Given the description of an element on the screen output the (x, y) to click on. 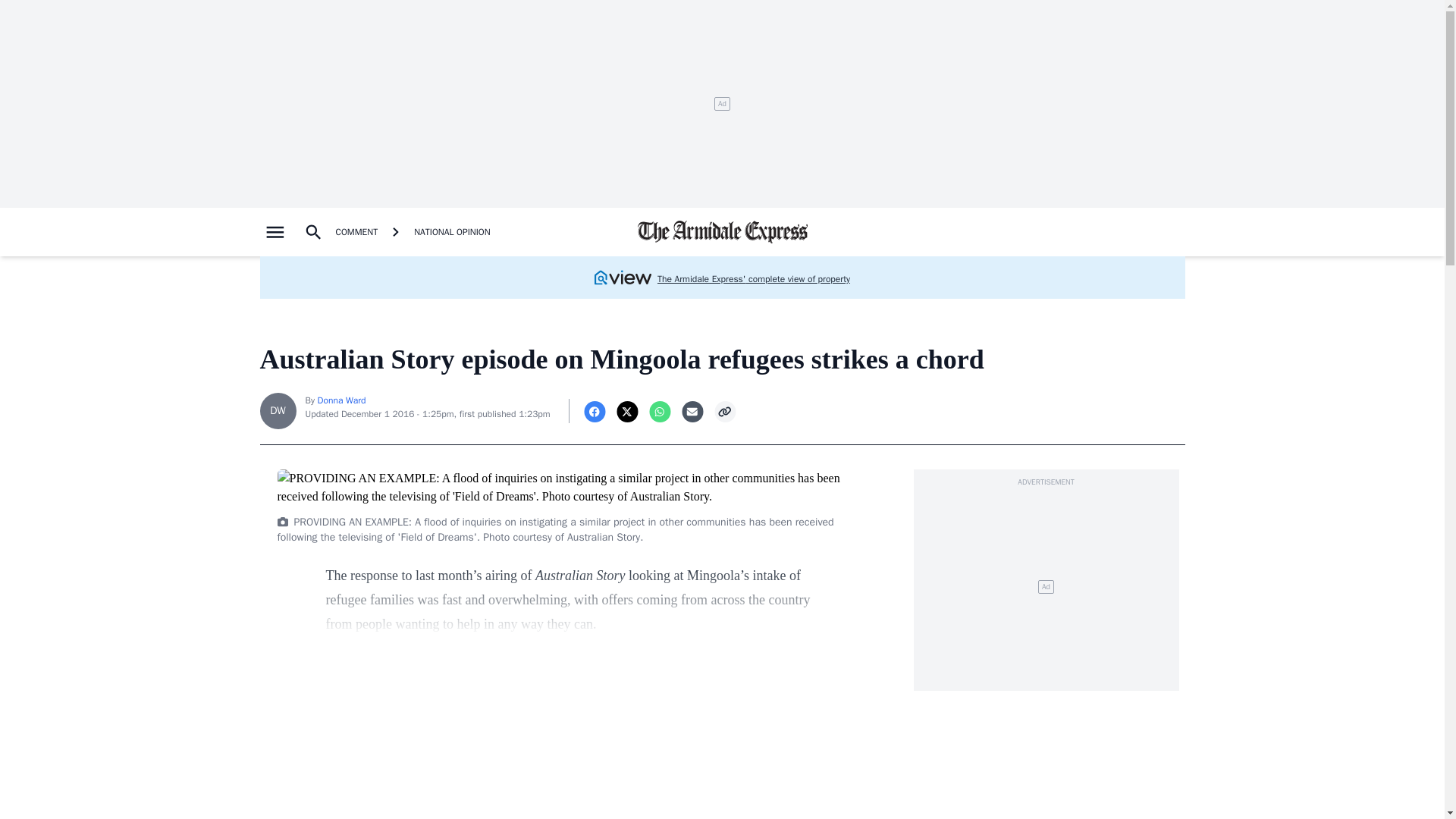
NATIONAL OPINION (451, 232)
COMMENT (356, 232)
